Given the description of an element on the screen output the (x, y) to click on. 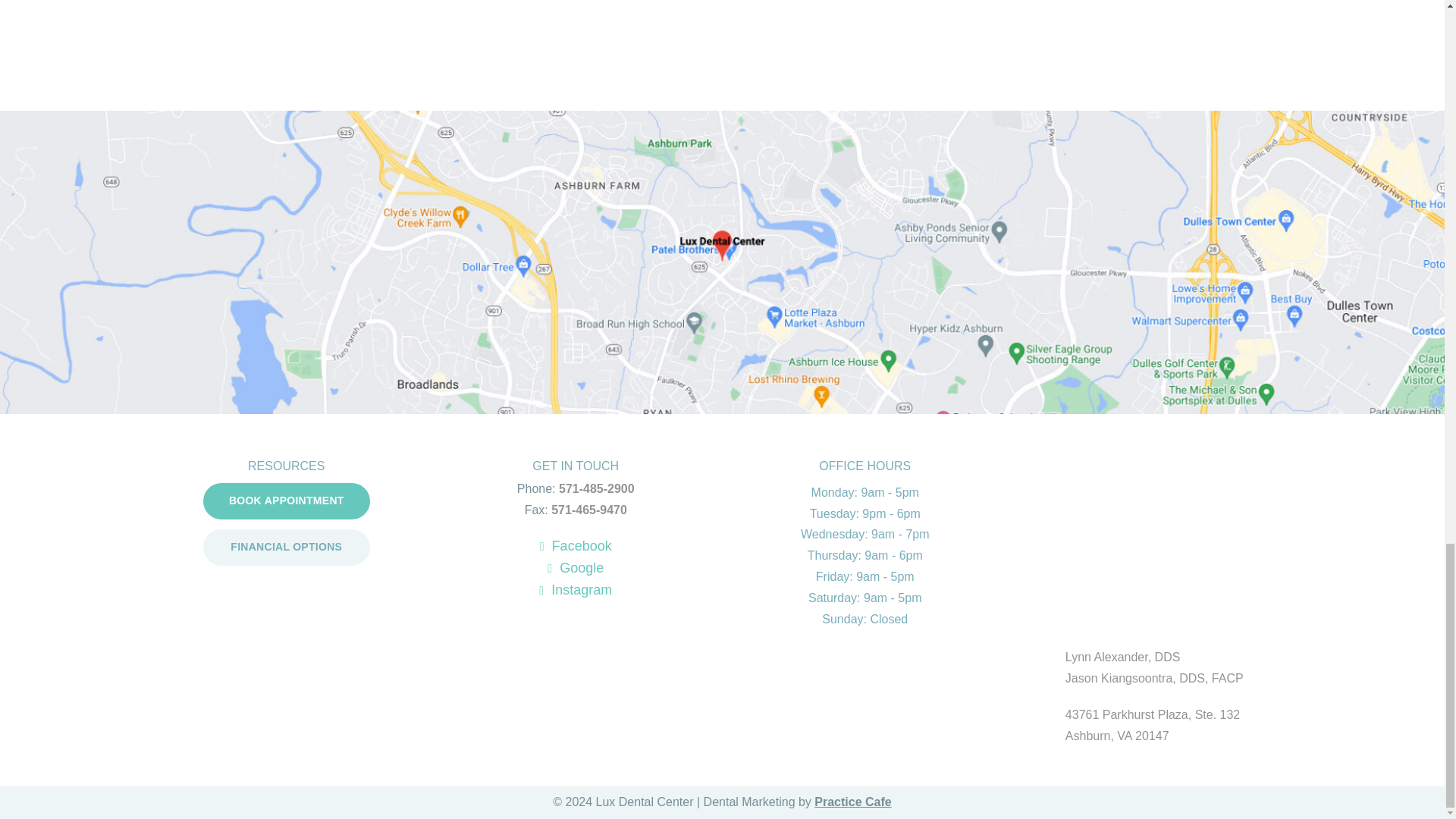
571-485-2900 (596, 488)
BOOK APPOINTMENT (286, 501)
571-465-9470 (589, 509)
FINANCIAL OPTIONS (286, 547)
